Given the description of an element on the screen output the (x, y) to click on. 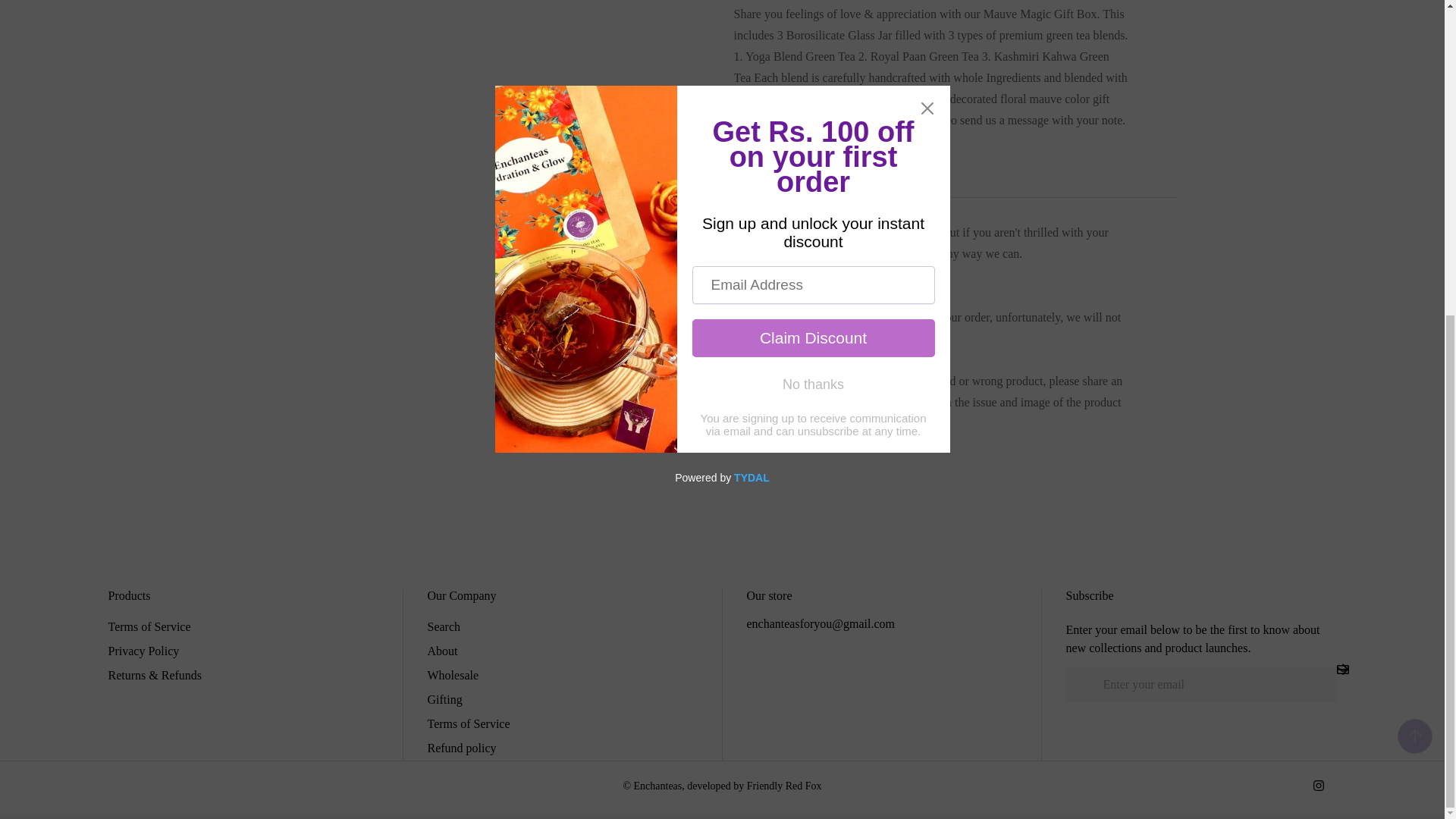
1 (990, 340)
